Given the description of an element on the screen output the (x, y) to click on. 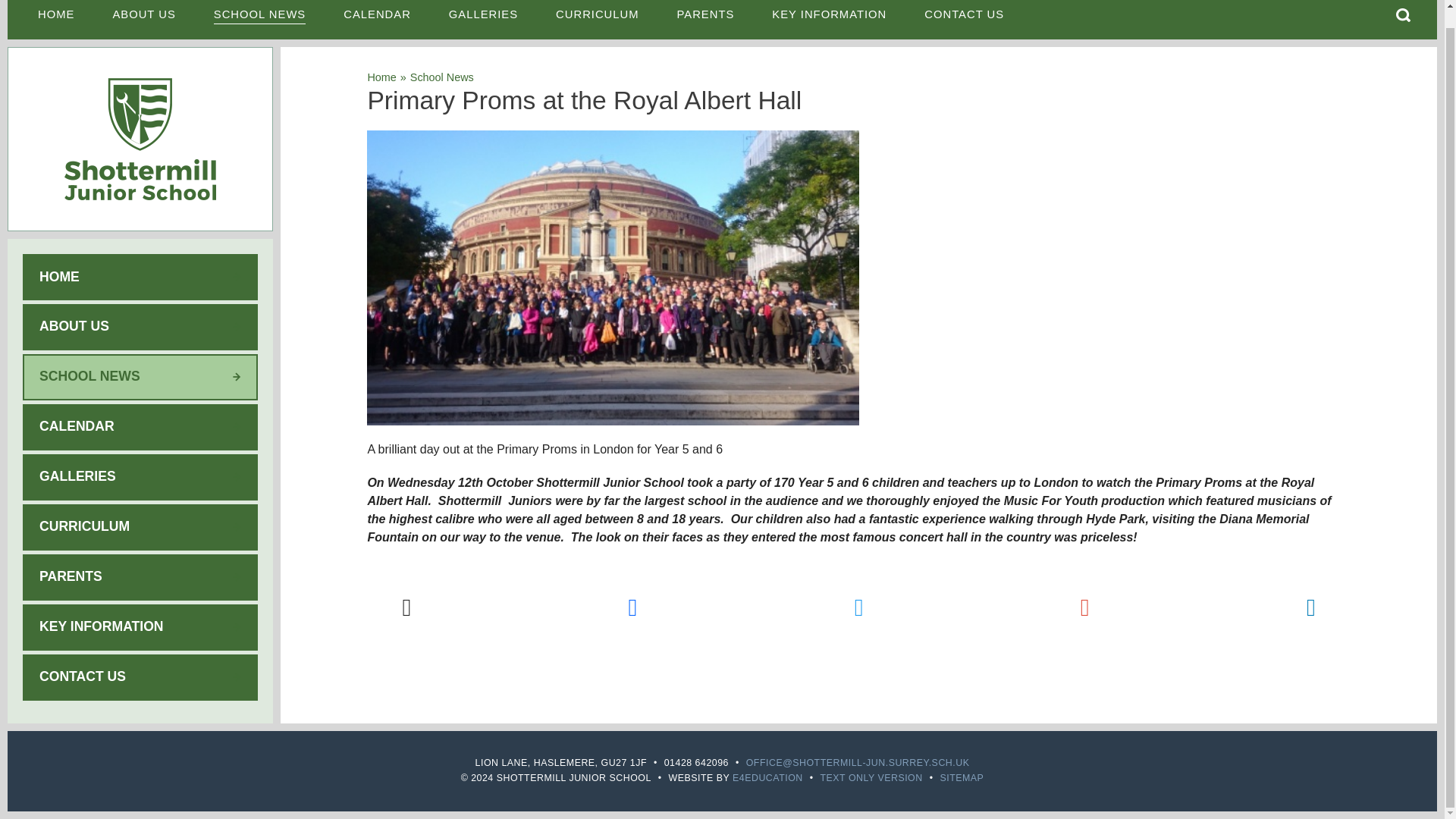
GALLERIES (483, 19)
CURRICULUM (597, 19)
HOME (55, 19)
CALENDAR (376, 19)
SCHOOL NEWS (259, 19)
ABOUT US (143, 19)
